Given the description of an element on the screen output the (x, y) to click on. 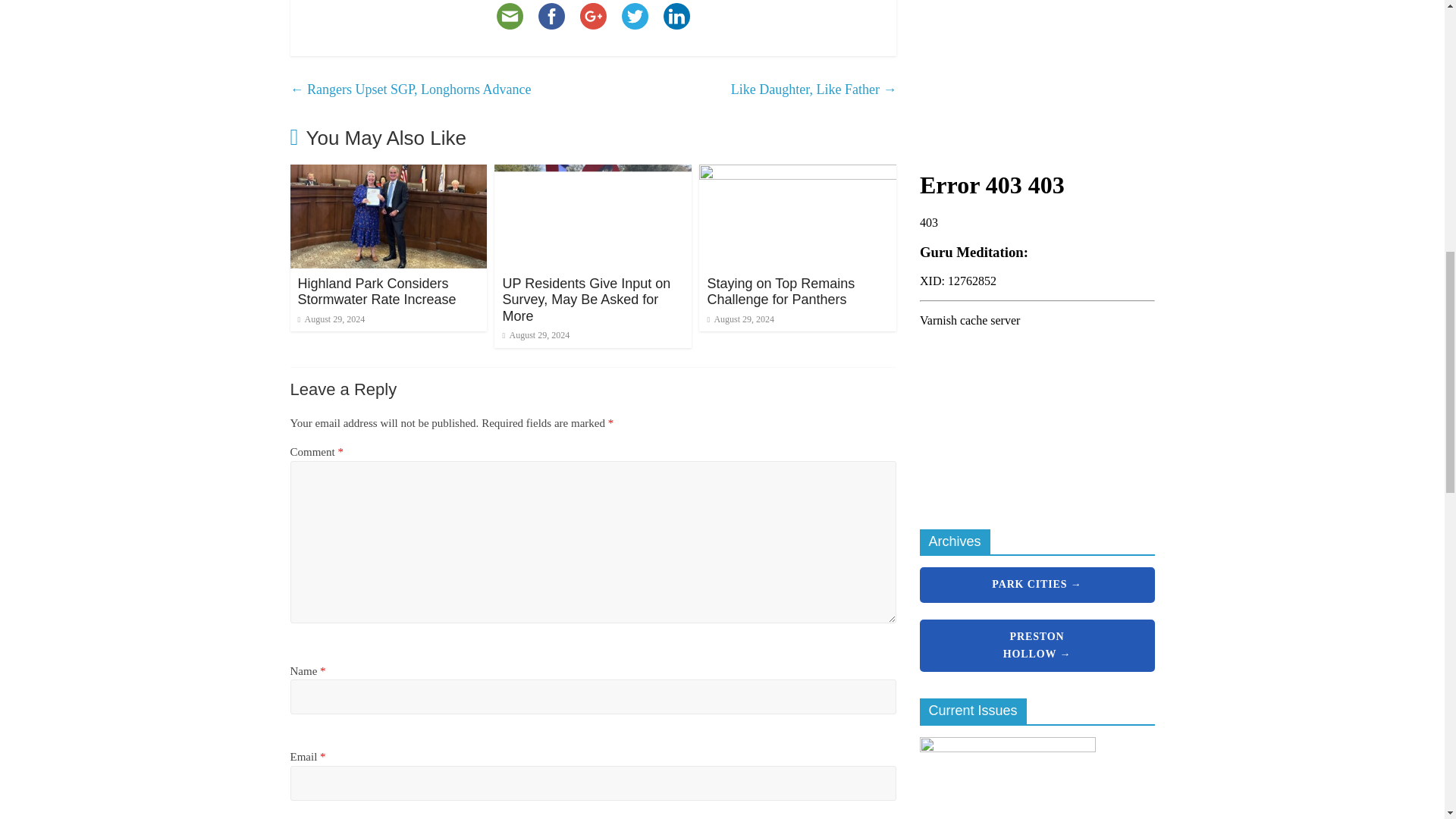
facebook (551, 18)
email (510, 18)
twitter (635, 18)
linkedin (676, 18)
google (593, 18)
